Given the description of an element on the screen output the (x, y) to click on. 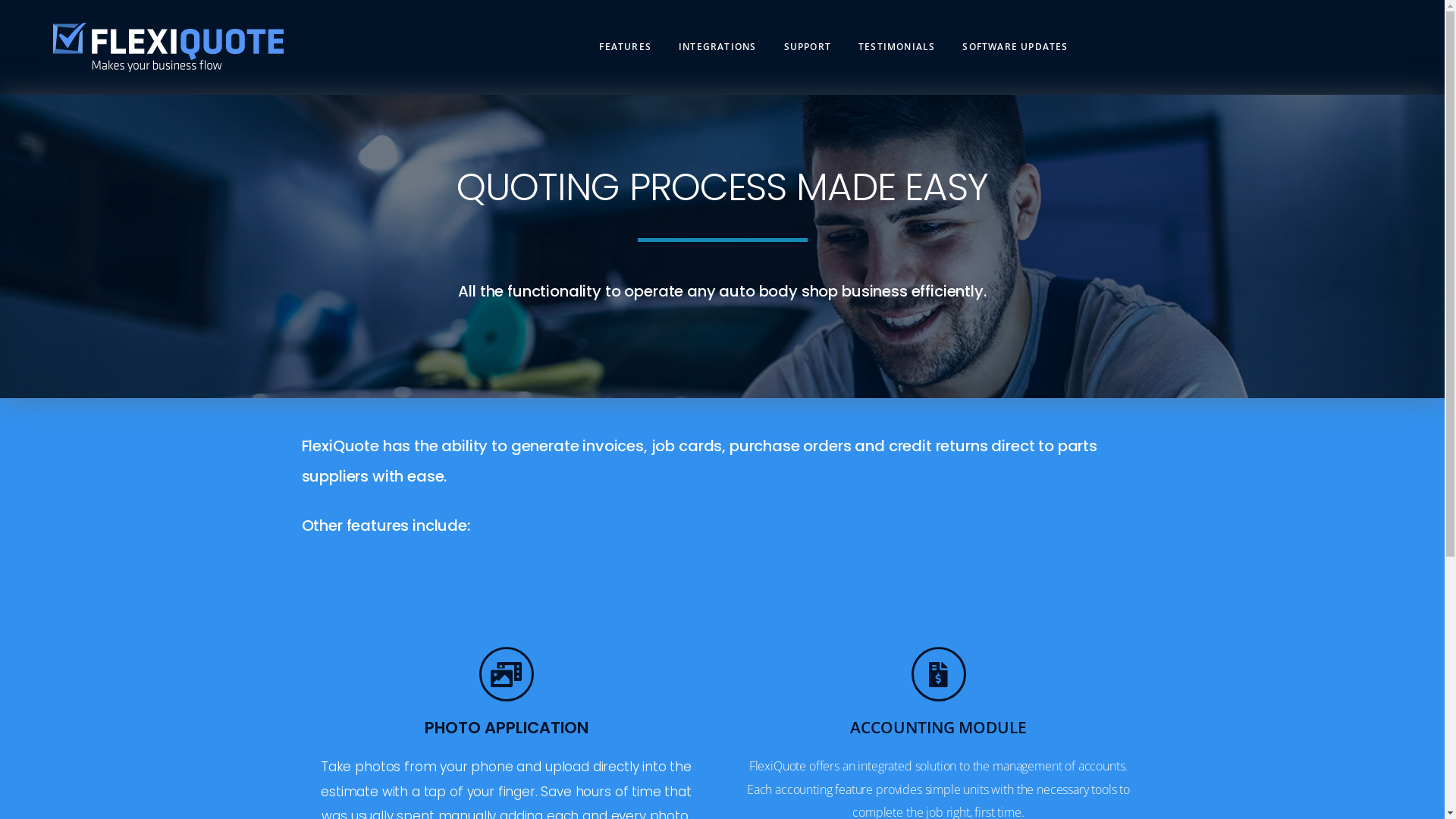
FEATURES Element type: text (625, 46)
SUPPORT Element type: text (807, 46)
INTEGRATIONS Element type: text (717, 46)
SOFTWARE UPDATES Element type: text (1014, 46)
ACCOUNTING MODULE Element type: text (938, 726)
TESTIMONIALS Element type: text (896, 46)
PHOTO APPLICATION Element type: text (506, 727)
